Given the description of an element on the screen output the (x, y) to click on. 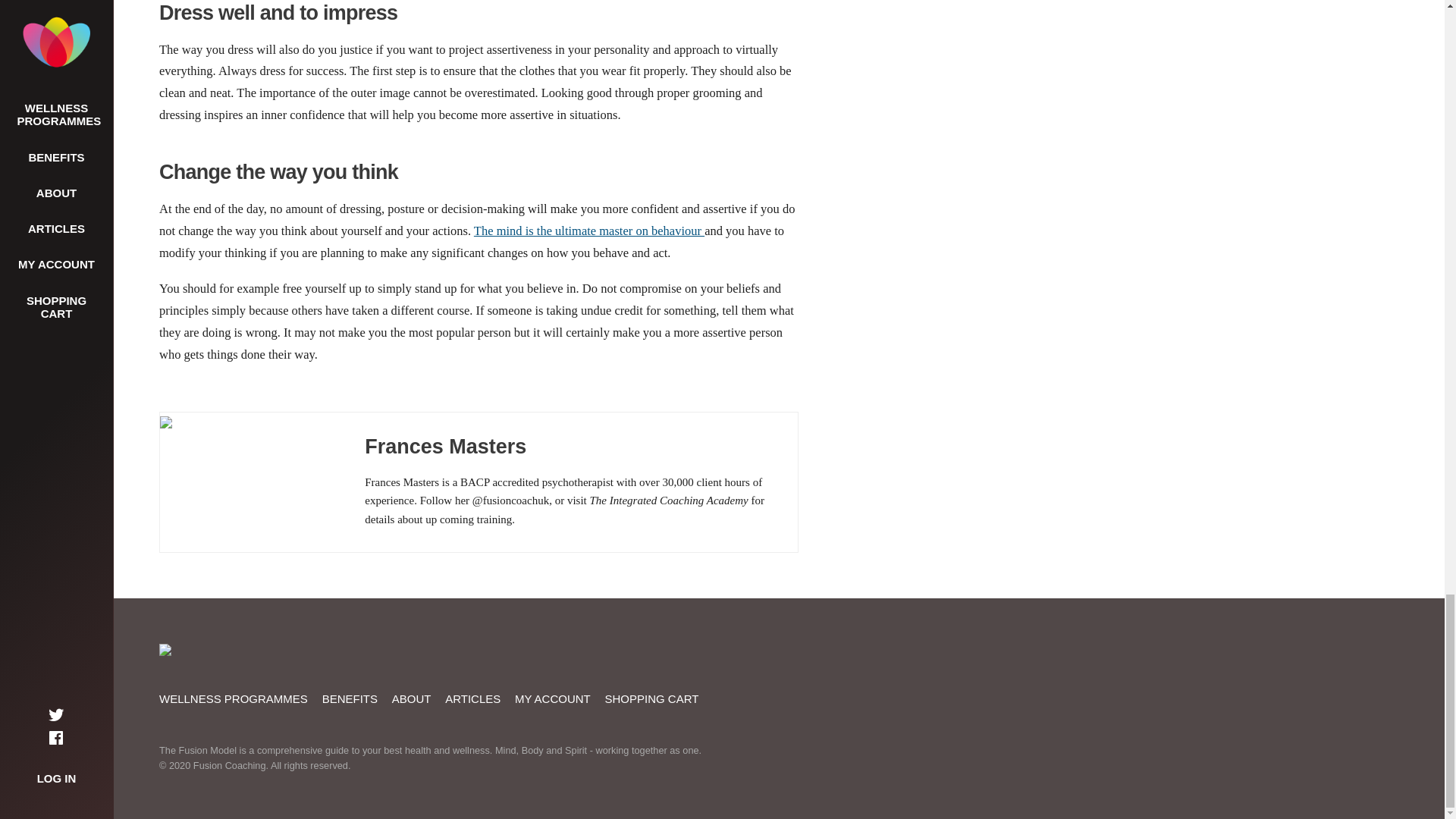
The mind is the ultimate master on behaviour (589, 230)
